Given the description of an element on the screen output the (x, y) to click on. 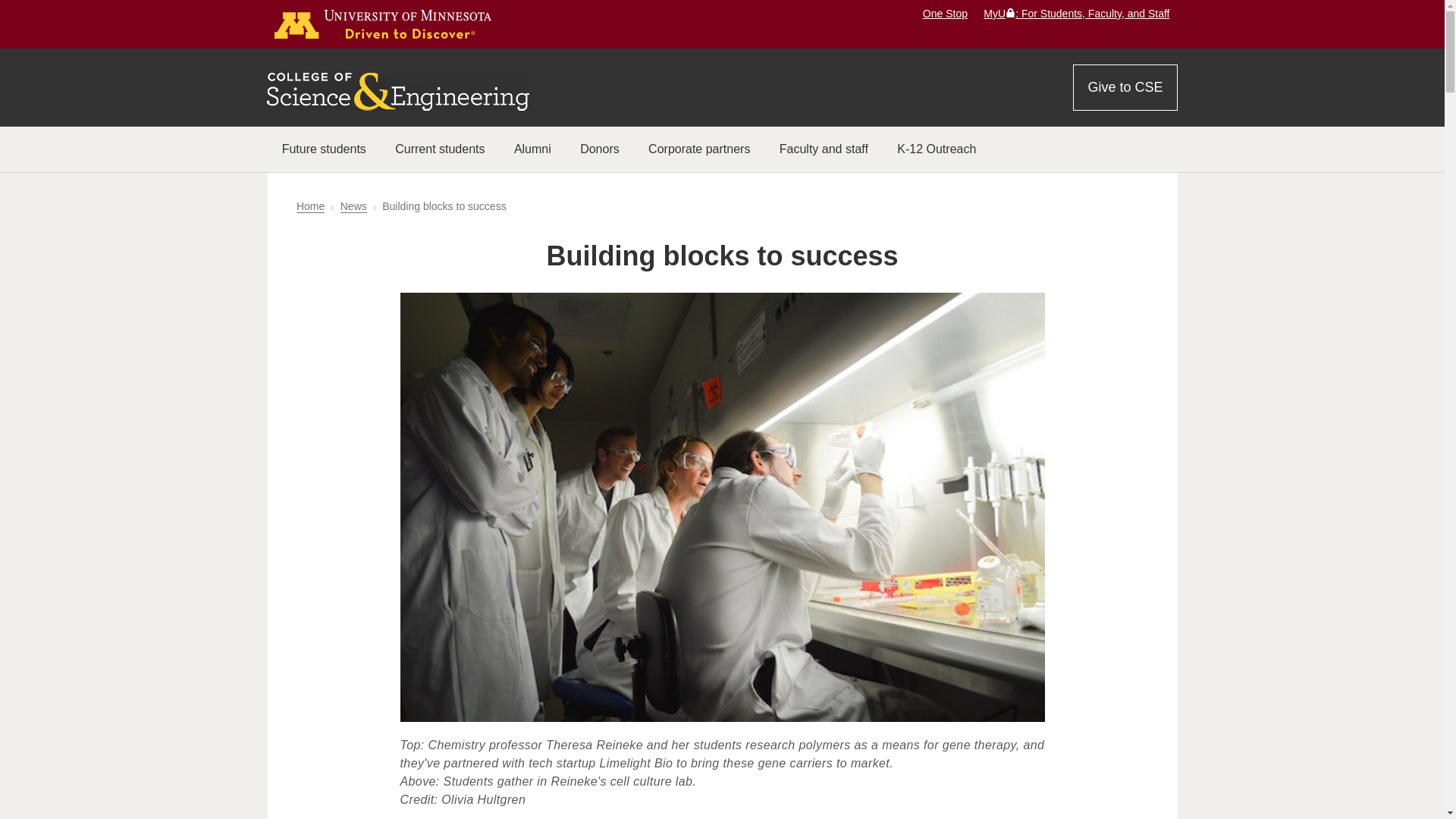
Give to CSE (1124, 87)
Future students (323, 148)
Current students (439, 148)
One Stop (945, 13)
MyU: For Students, Faculty, and Staff (1076, 13)
